Given the description of an element on the screen output the (x, y) to click on. 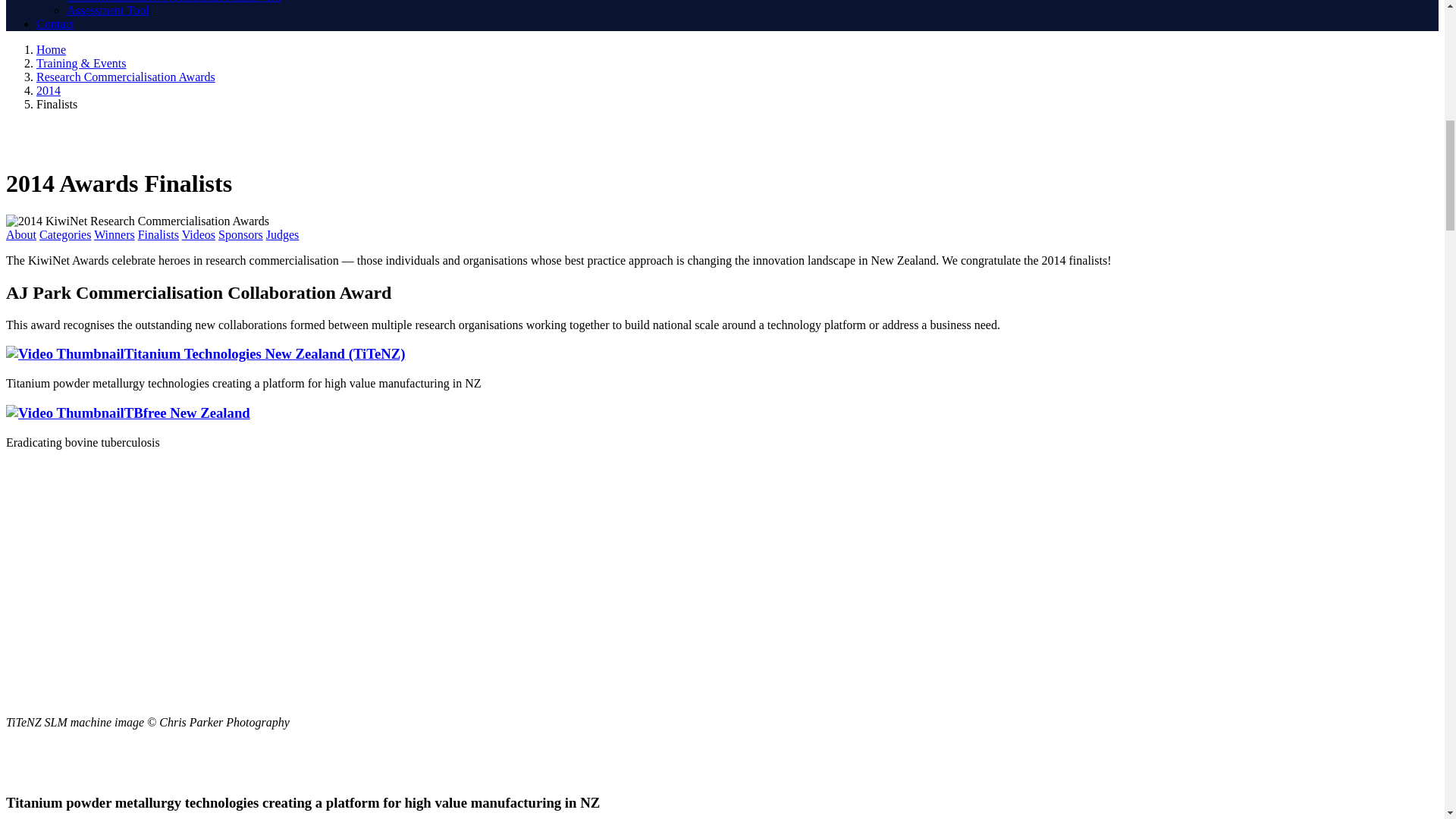
2014 Awards Videos (198, 234)
2014 Awards Judges (282, 234)
2014 Awards Sponsors (240, 234)
2014 Awards Winners (114, 234)
2014 Awards Categories (64, 234)
About the Awards (20, 234)
2014 Awards Finalists (158, 234)
Commercialisation Collaboration Finalist Aldera Health (127, 412)
